Given the description of an element on the screen output the (x, y) to click on. 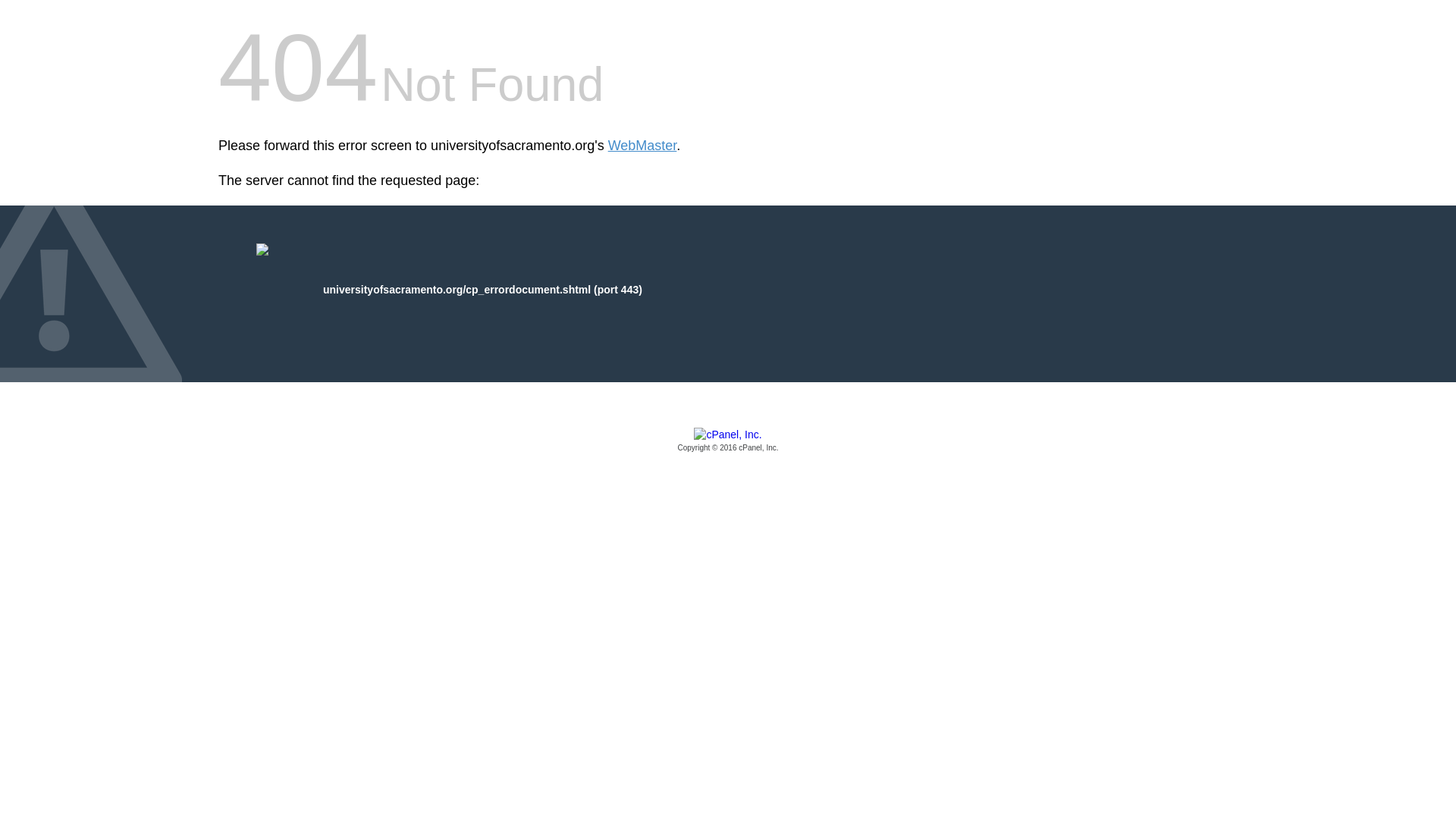
cPanel, Inc. (727, 440)
WebMaster (642, 145)
